Given the description of an element on the screen output the (x, y) to click on. 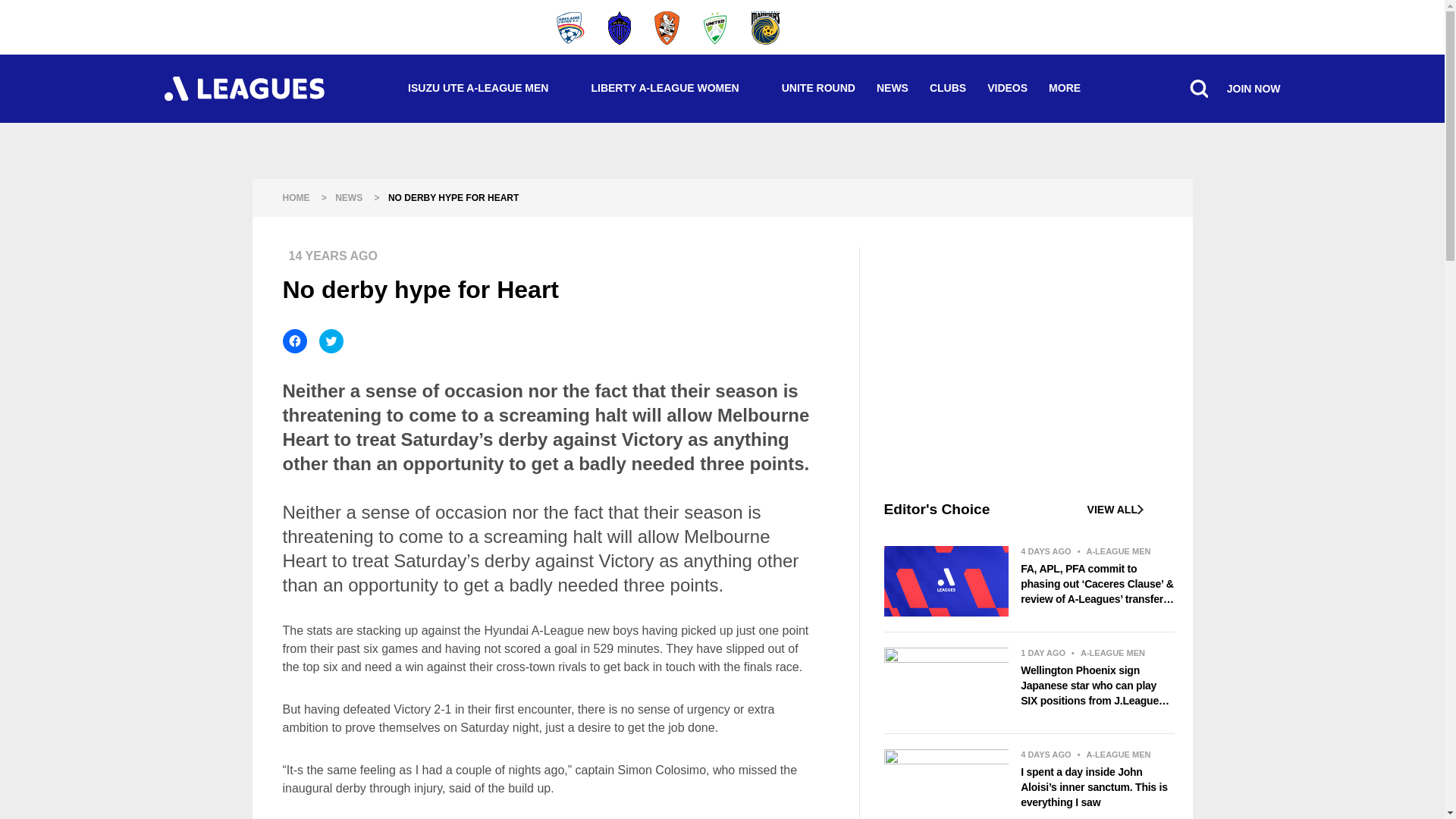
Click to share on Twitter (330, 340)
Click to share on Facebook (293, 340)
LIBERTY A-LEAGUE WOMEN (674, 87)
ISUZU UTE A-LEAGUE MEN (488, 87)
